Given the description of an element on the screen output the (x, y) to click on. 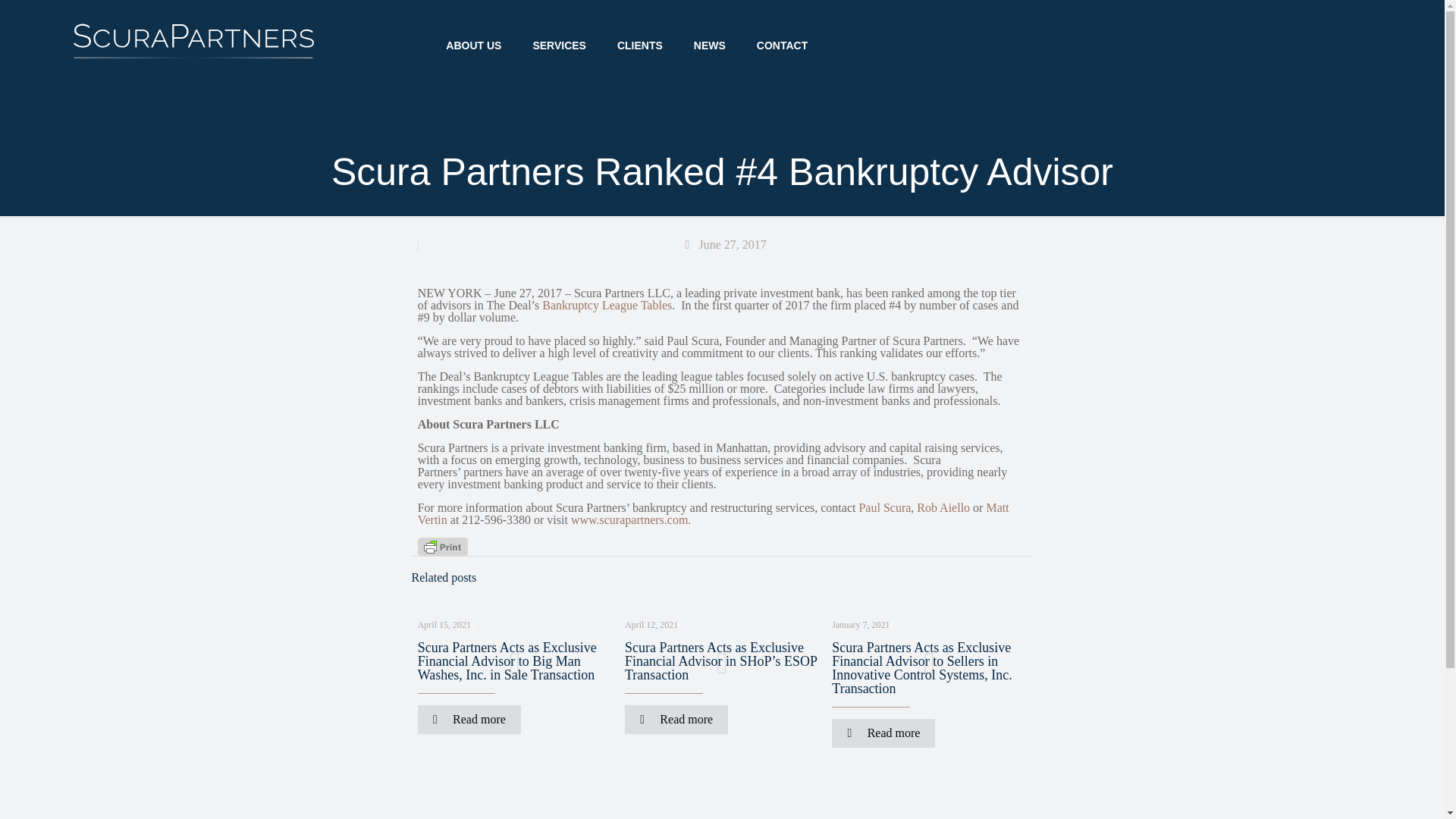
SERVICES (559, 45)
Read more (676, 719)
Scura Partners (192, 56)
Paul Scura (885, 507)
Matt Vertin (713, 513)
Read more (469, 719)
CONTACT (781, 45)
www.scurapartners.com. (630, 519)
